Given the description of an element on the screen output the (x, y) to click on. 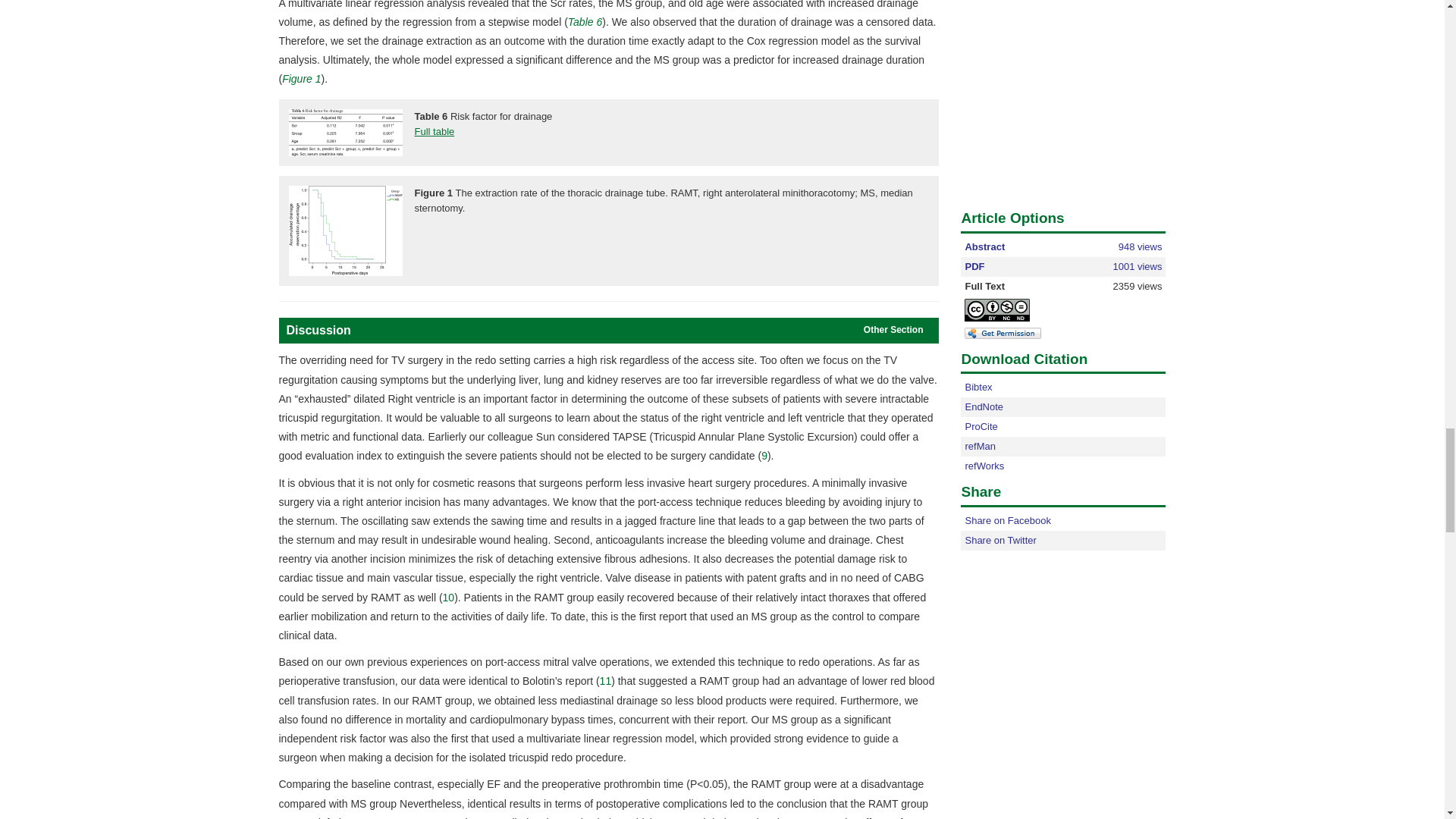
Click on image to zoom (344, 132)
Click on image to zoom (344, 230)
